Given the description of an element on the screen output the (x, y) to click on. 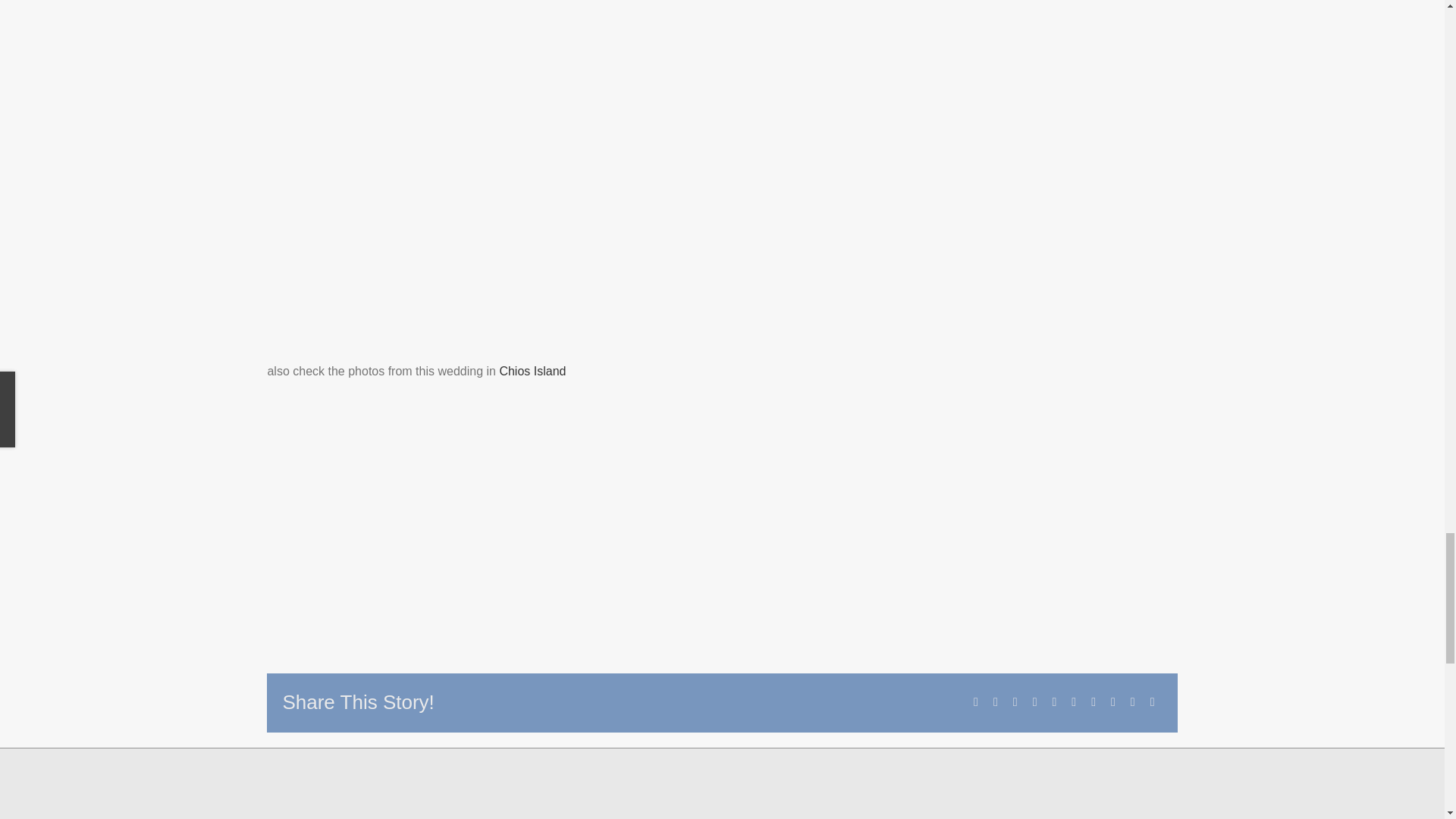
Facebook (975, 702)
X (995, 702)
Tumblr (1073, 702)
Reddit (1015, 702)
WhatsApp (1053, 702)
LinkedIn (1035, 702)
